Given the description of an element on the screen output the (x, y) to click on. 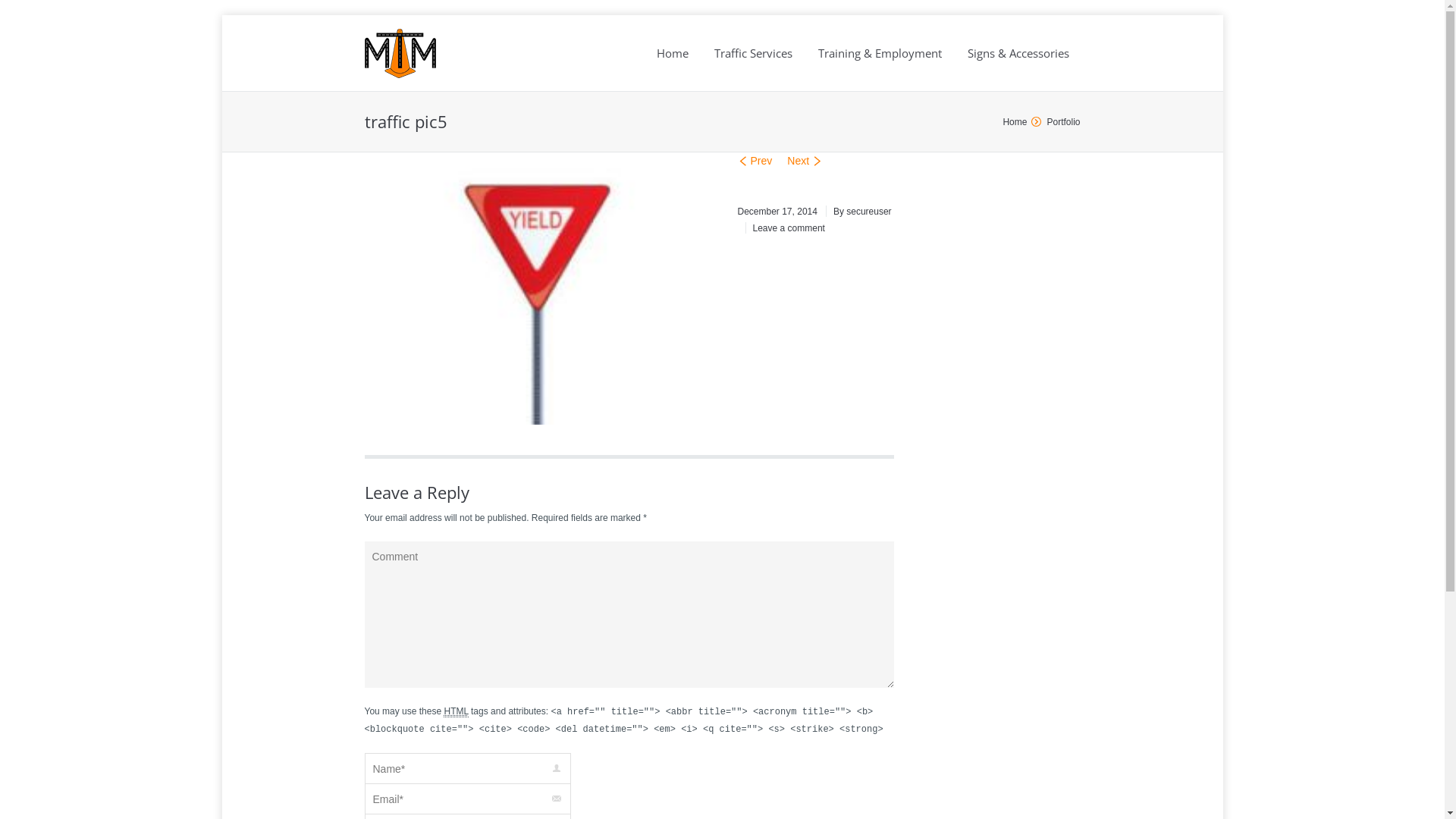
Leave a comment Element type: text (784, 227)
Next Element type: text (804, 160)
By secureuser Element type: text (858, 211)
December 17, 2014 Element type: text (776, 211)
Signs & Accessories Element type: text (1018, 53)
Training & Employment Element type: text (879, 53)
Home Element type: text (672, 53)
Traffic Services Element type: text (753, 53)
Portfolio Element type: text (1062, 121)
Prev Element type: text (754, 160)
Home Element type: text (1014, 121)
